Given the description of an element on the screen output the (x, y) to click on. 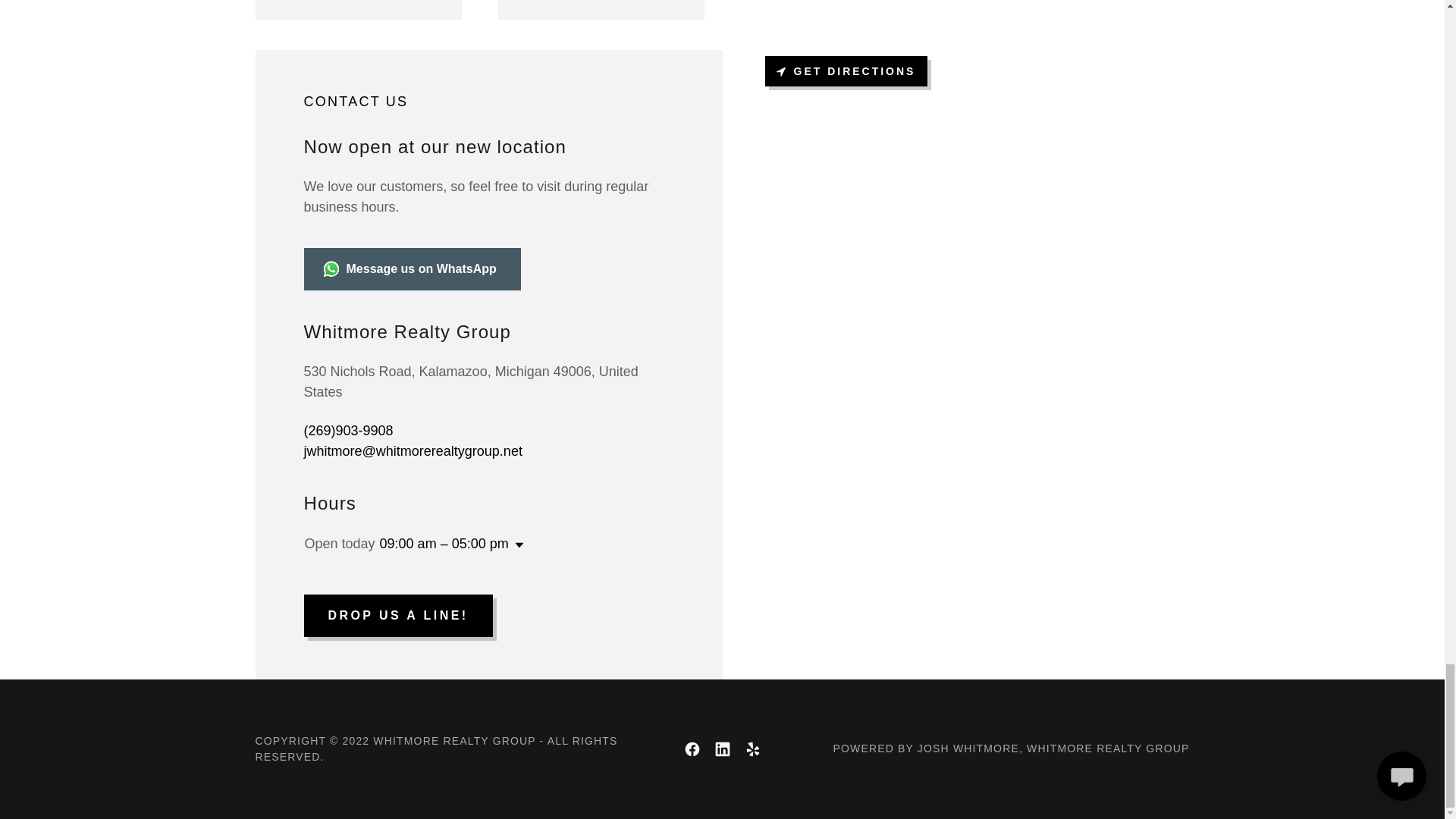
GET DIRECTIONS (845, 71)
DROP US A LINE! (397, 615)
Message us on WhatsApp (410, 269)
